Given the description of an element on the screen output the (x, y) to click on. 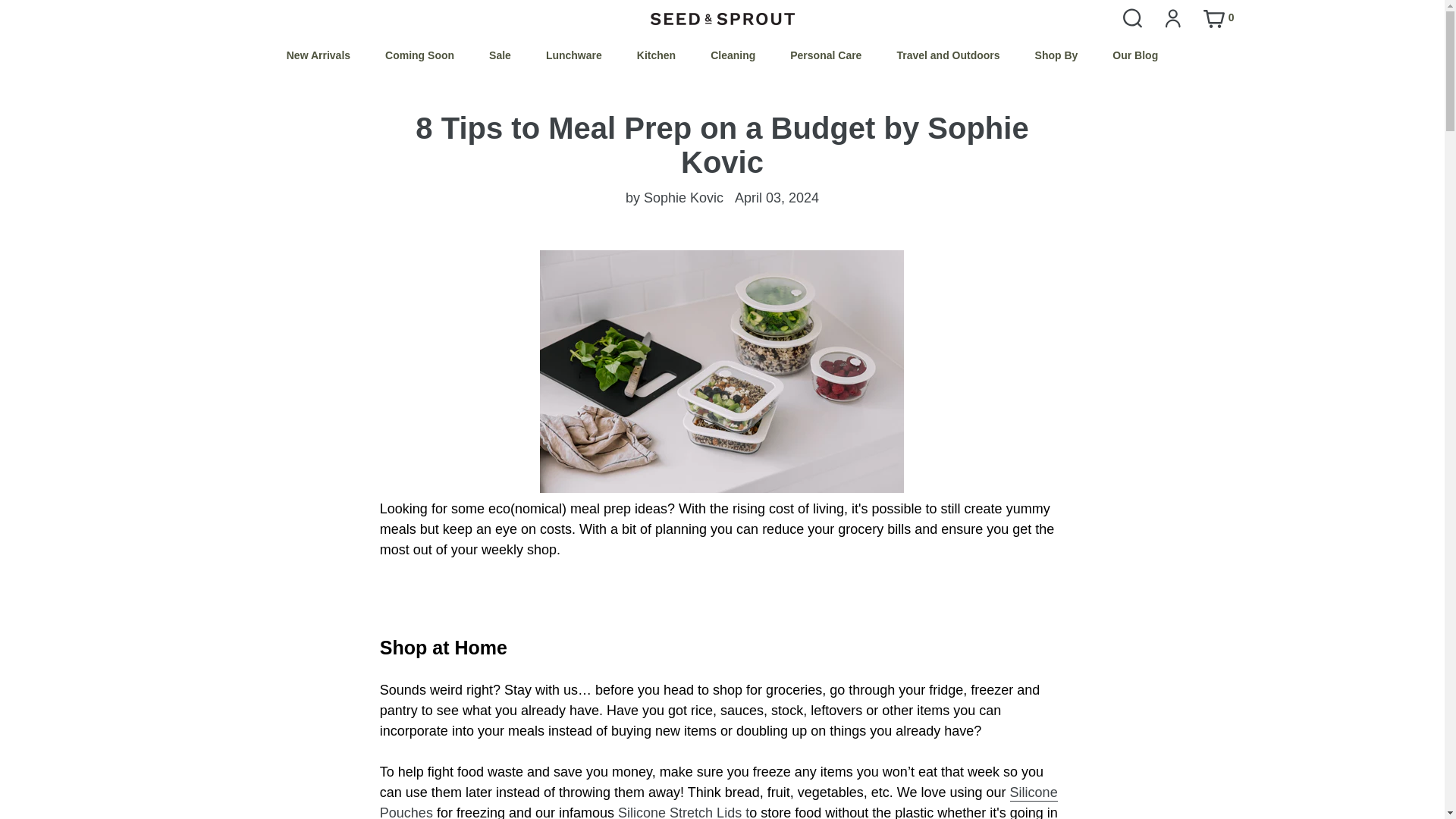
Silicone Stretch Lids (683, 812)
Food Pouches (719, 801)
